Given the description of an element on the screen output the (x, y) to click on. 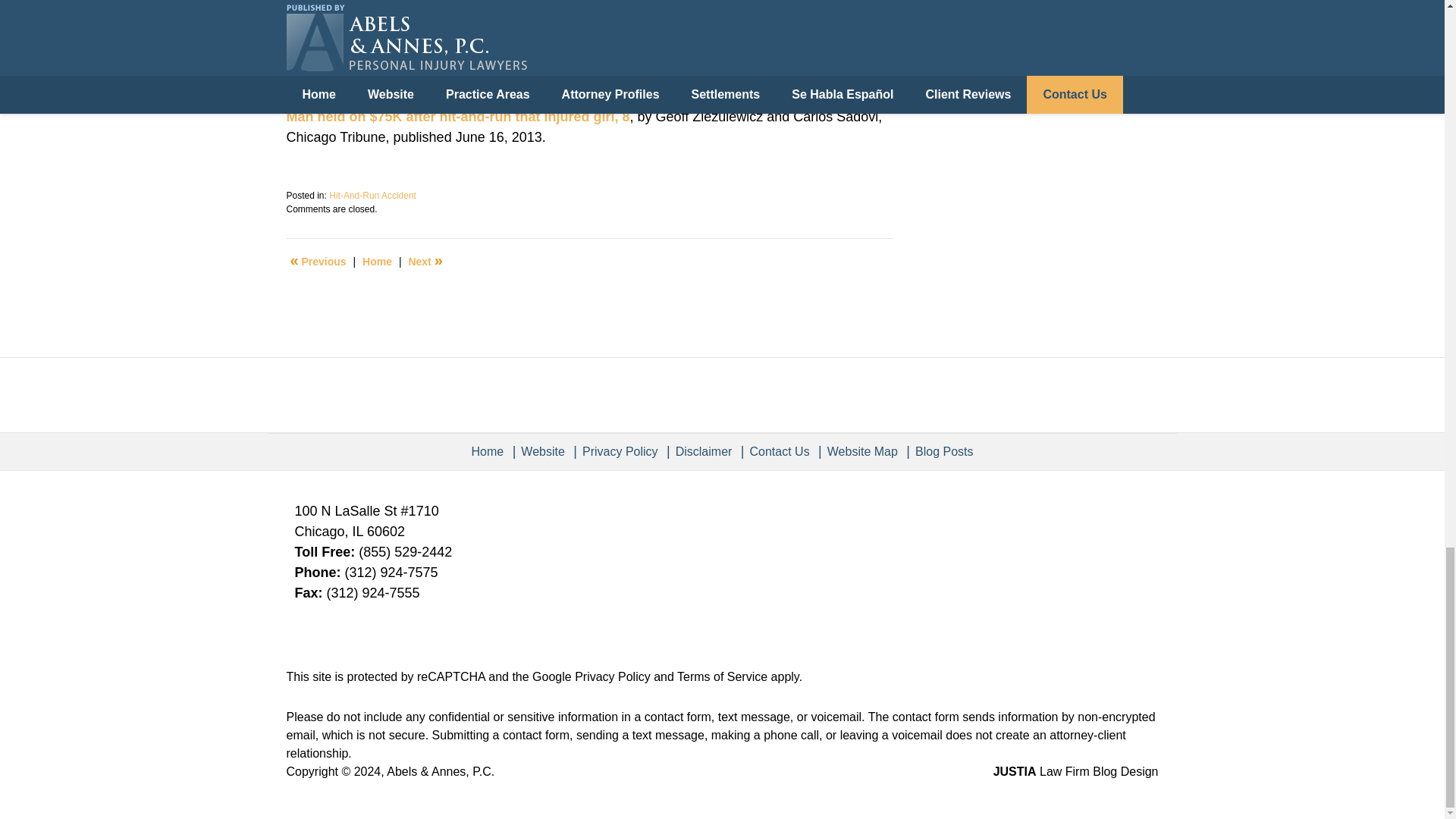
Home (377, 261)
View all posts in Hit-And-Run Accident (372, 195)
Rollover Accident Kills Man in South Suburbs (318, 261)
Man Charged in Fatal Tinley Park DUI and Hit-And-Run Crash (484, 14)
Hit-And-Run Accident (372, 195)
13 Injured After 3 Vehicles Collide (424, 261)
